Given the description of an element on the screen output the (x, y) to click on. 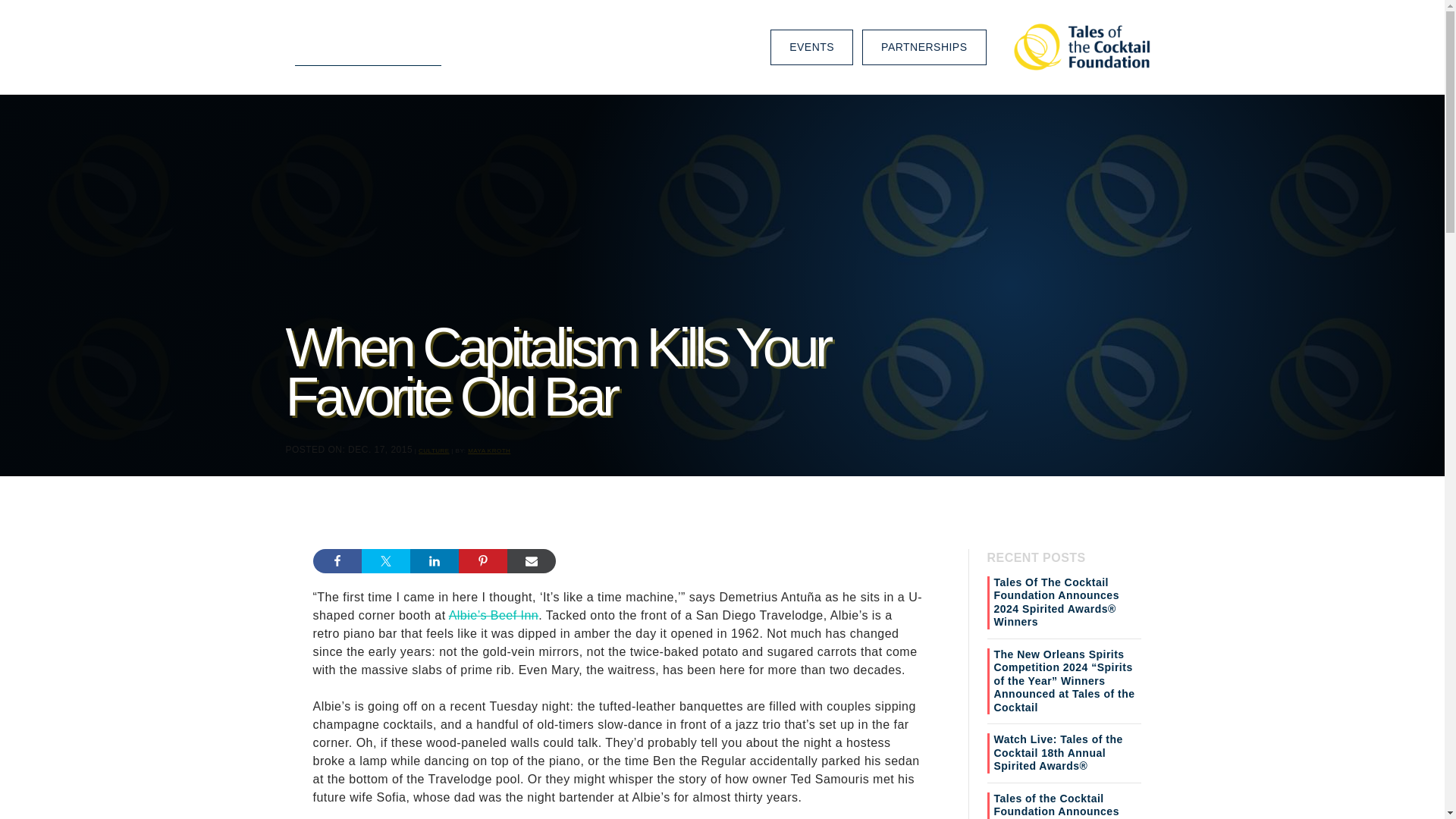
Share via Email (530, 560)
Share on LinkedIn (433, 560)
Share on Facebook (337, 560)
Share on Pinterest (482, 560)
Share on Twitter (385, 560)
